Given the description of an element on the screen output the (x, y) to click on. 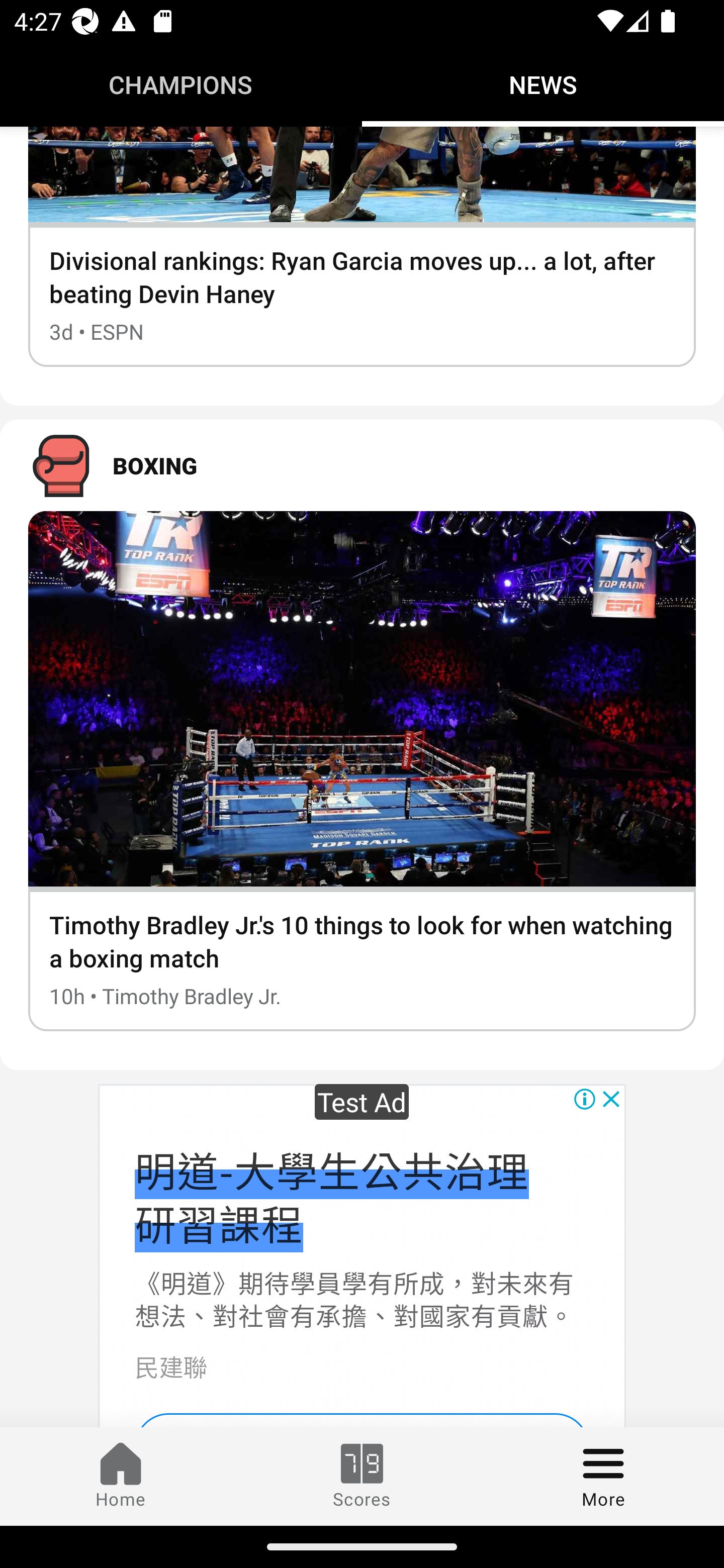
Champions CHAMPIONS (181, 84)
BOXING (362, 465)
明道-大學生公共治理 研習課程 明道-大學生公共治理 研習課程 (331, 1196)
民建聯 (170, 1366)
Home (120, 1475)
Scores (361, 1475)
